Given the description of an element on the screen output the (x, y) to click on. 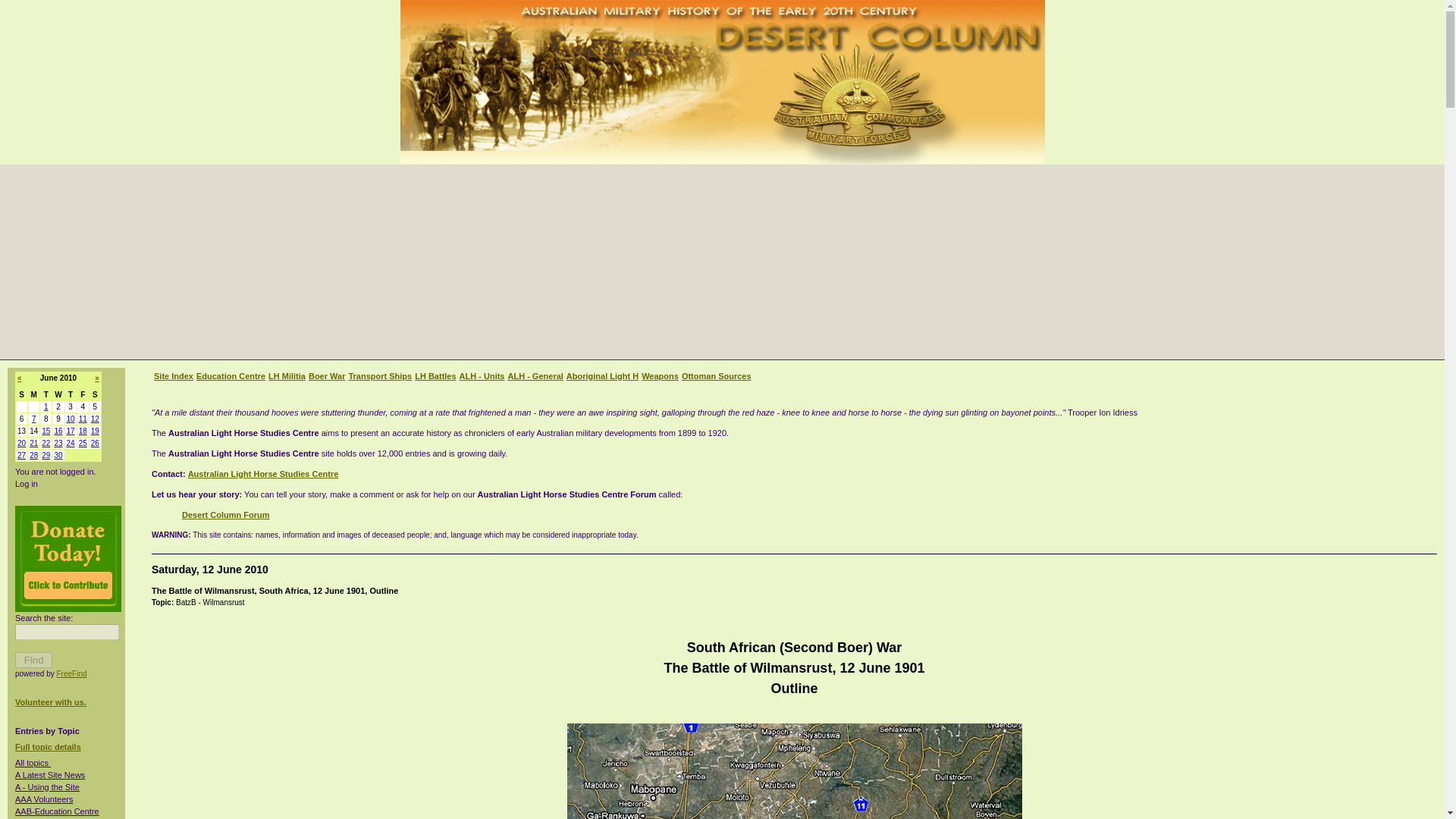
16 (57, 430)
19 (94, 430)
All topics (32, 762)
Full topic details (47, 746)
29 (45, 455)
17 (70, 430)
18 (82, 430)
Log in (25, 483)
FreeFind (70, 673)
20 (21, 442)
26 (94, 442)
28 (33, 455)
22 (45, 442)
AAB-Education Centre (56, 810)
24 (70, 442)
